Given the description of an element on the screen output the (x, y) to click on. 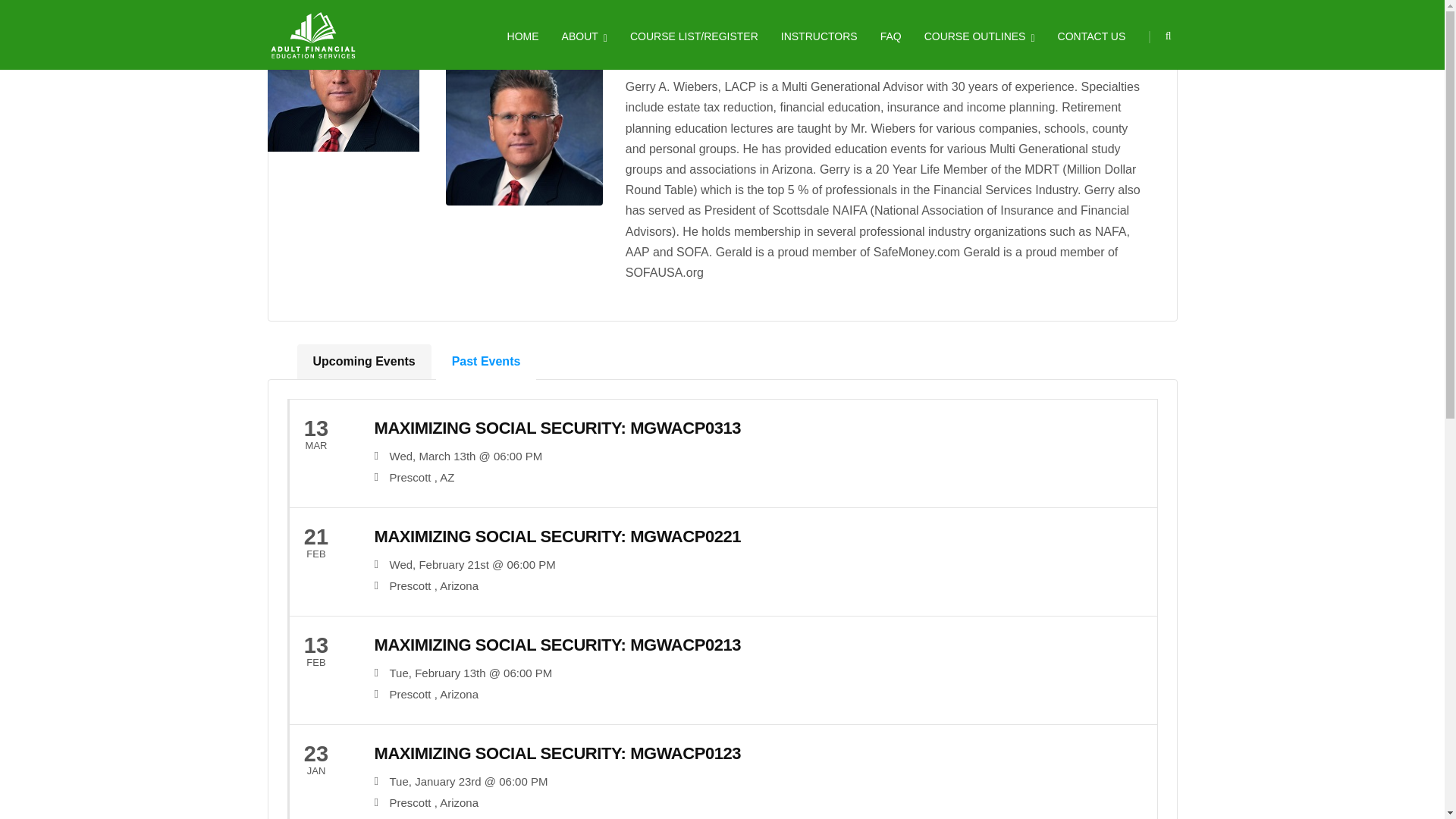
ABOUT (584, 34)
CONTACT US (1091, 34)
INSTRUCTORS (819, 34)
Gerald A Wiebers (342, 75)
COURSE OUTLINES (979, 34)
